Given the description of an element on the screen output the (x, y) to click on. 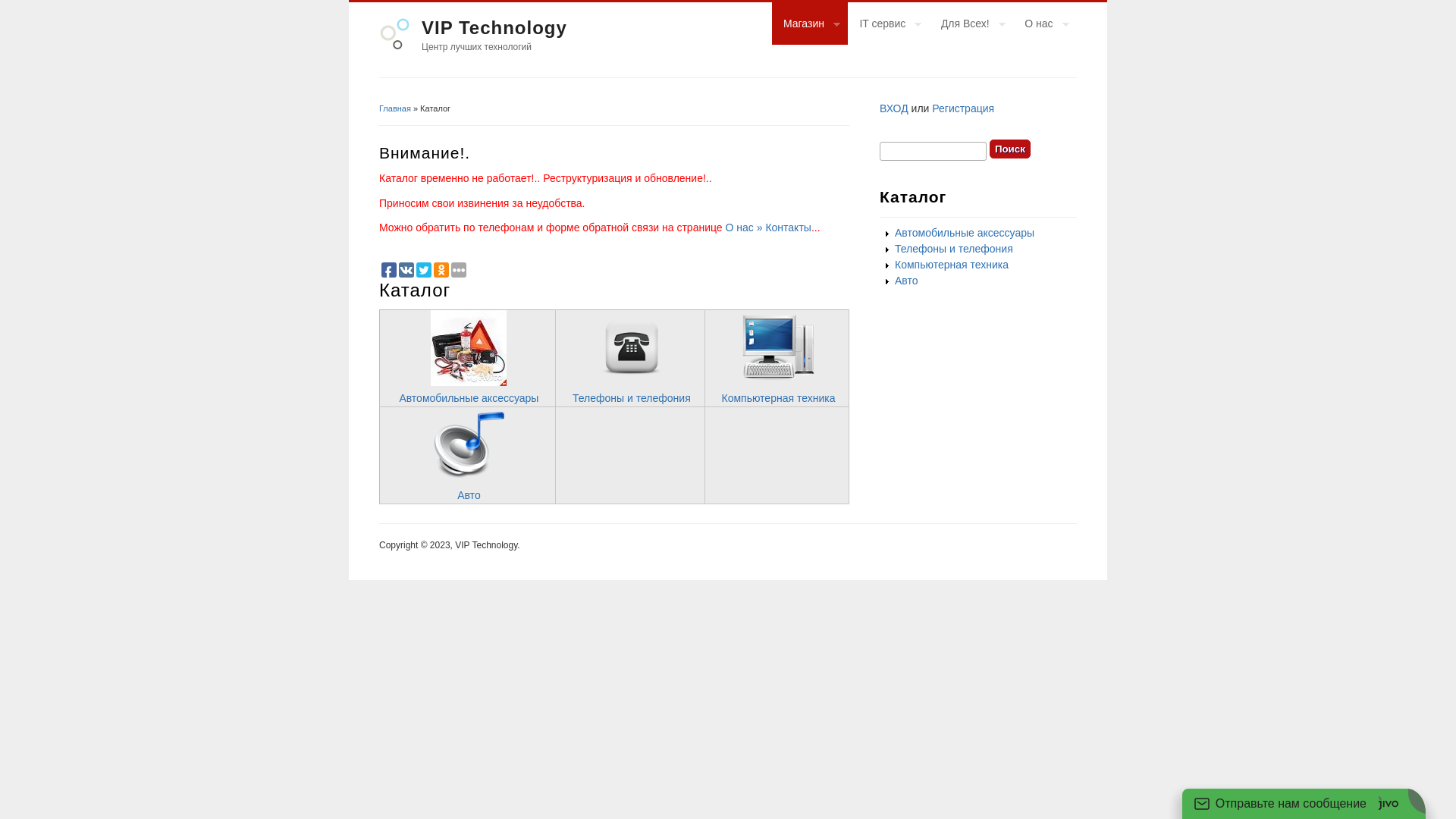
VIP Technology Element type: text (494, 27)
